Given the description of an element on the screen output the (x, y) to click on. 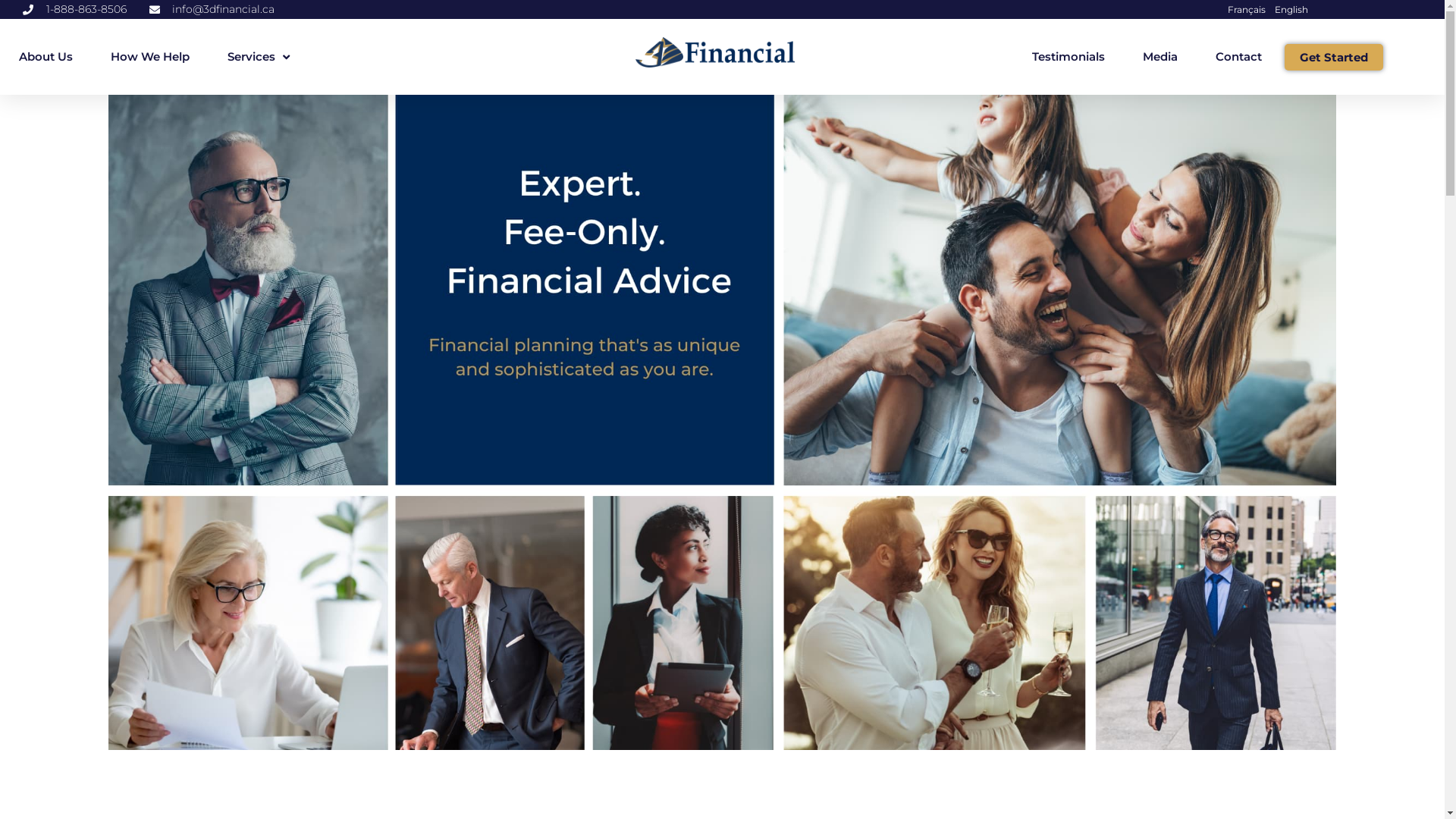
info@3dfinancial.ca Element type: text (211, 9)
Services Element type: text (258, 56)
English Element type: text (1291, 9)
Media Element type: text (1159, 56)
How We Help Element type: text (149, 56)
Testimonials Element type: text (1068, 56)
Contact Element type: text (1238, 56)
About Us Element type: text (45, 56)
1-888-863-8506 Element type: text (74, 9)
Get Started Element type: text (1333, 56)
